Given the description of an element on the screen output the (x, y) to click on. 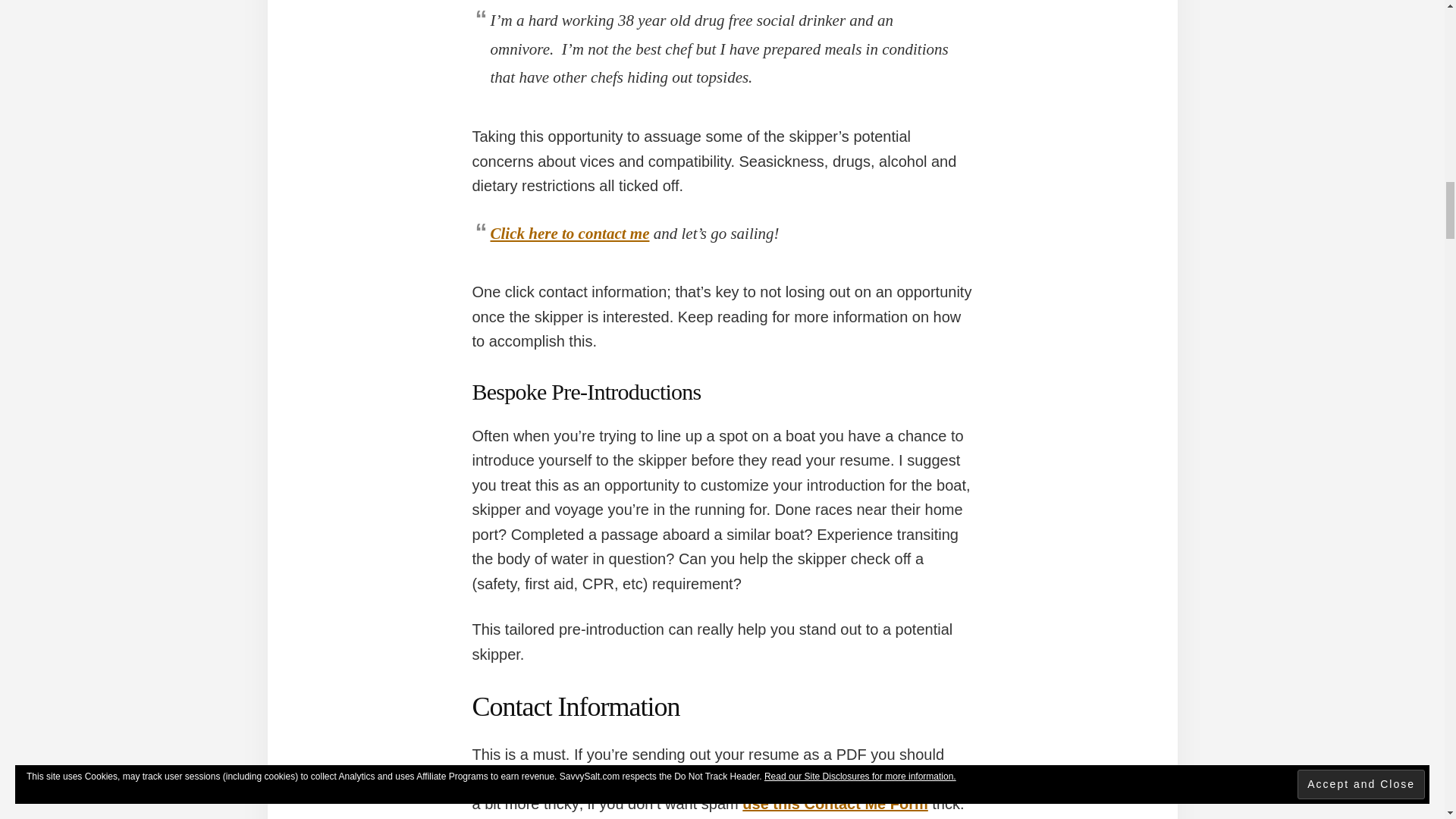
Click here to contact me (569, 233)
use this Contact Me Form (834, 803)
